Given the description of an element on the screen output the (x, y) to click on. 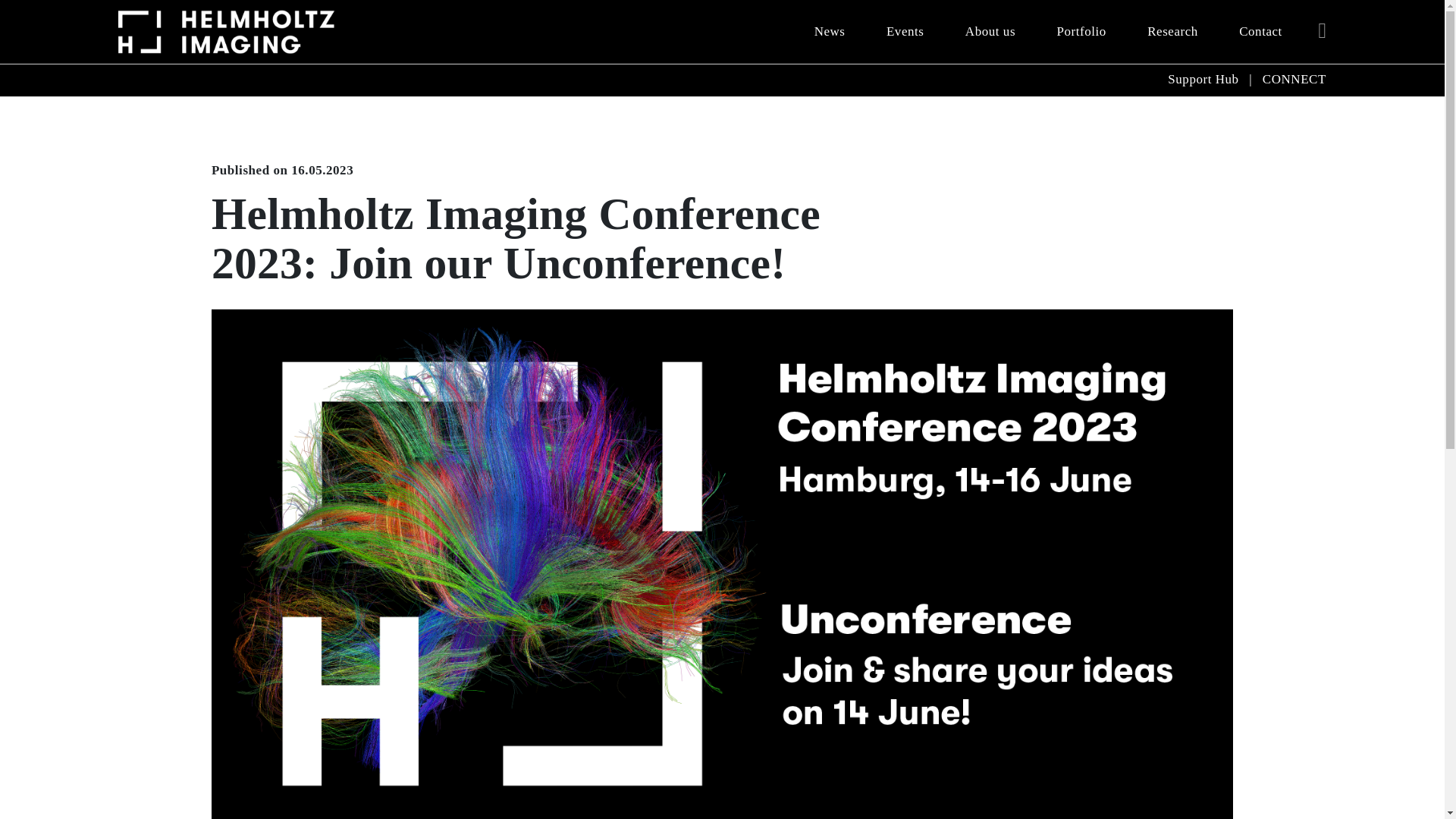
Contact (1260, 31)
News (829, 31)
Events (905, 31)
Research (1172, 31)
Support Hub (1203, 79)
Portfolio (1081, 31)
About us (989, 31)
CONNECT (1294, 79)
